Given the description of an element on the screen output the (x, y) to click on. 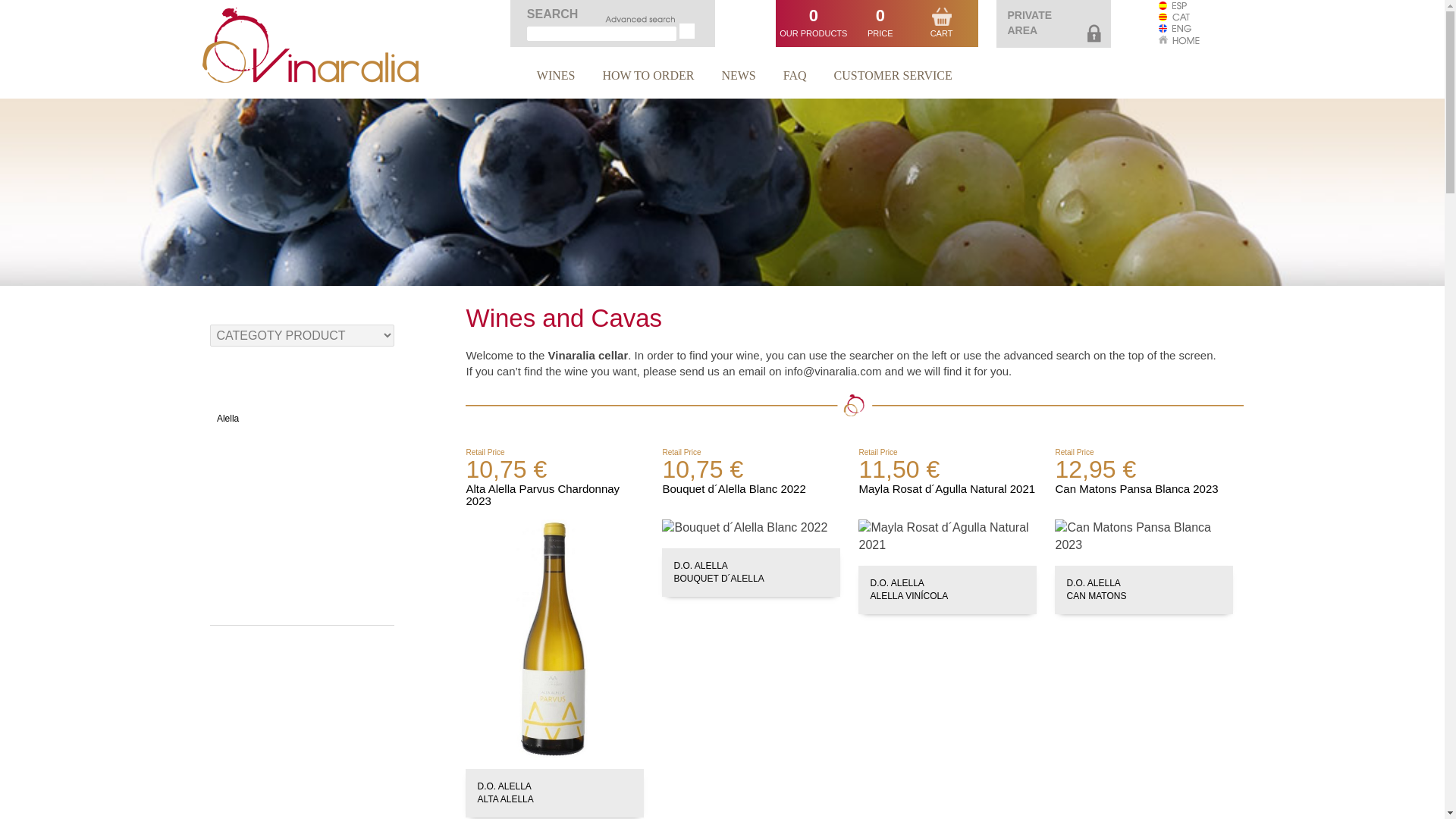
HOME (1178, 38)
CAT (1178, 15)
Searcher (640, 17)
EN (1178, 28)
WINES (556, 79)
Customer Login (1094, 33)
How to order (648, 79)
Wines (556, 79)
EN (1029, 22)
CUSTOMER SERVICE (1178, 26)
CAT (893, 79)
ES (1178, 16)
